Given the description of an element on the screen output the (x, y) to click on. 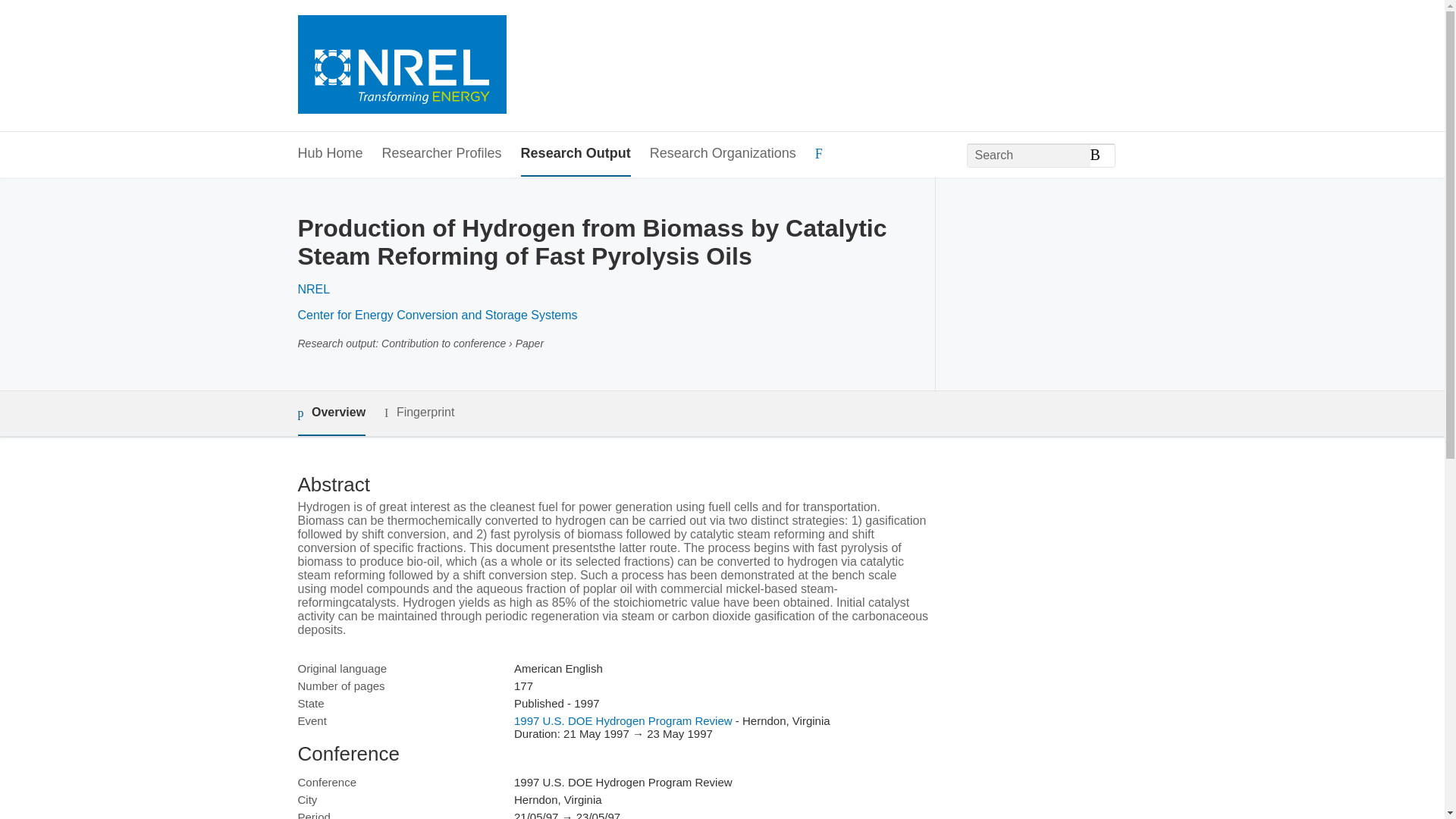
Overview (331, 413)
Researcher Profiles (441, 153)
NREL (313, 288)
National Renewable Energy Laboratory Hub Home (401, 66)
Fingerprint (419, 412)
Center for Energy Conversion and Storage Systems (436, 314)
Hub Home (329, 153)
Research Output (575, 153)
Research Organizations (722, 153)
